Given the description of an element on the screen output the (x, y) to click on. 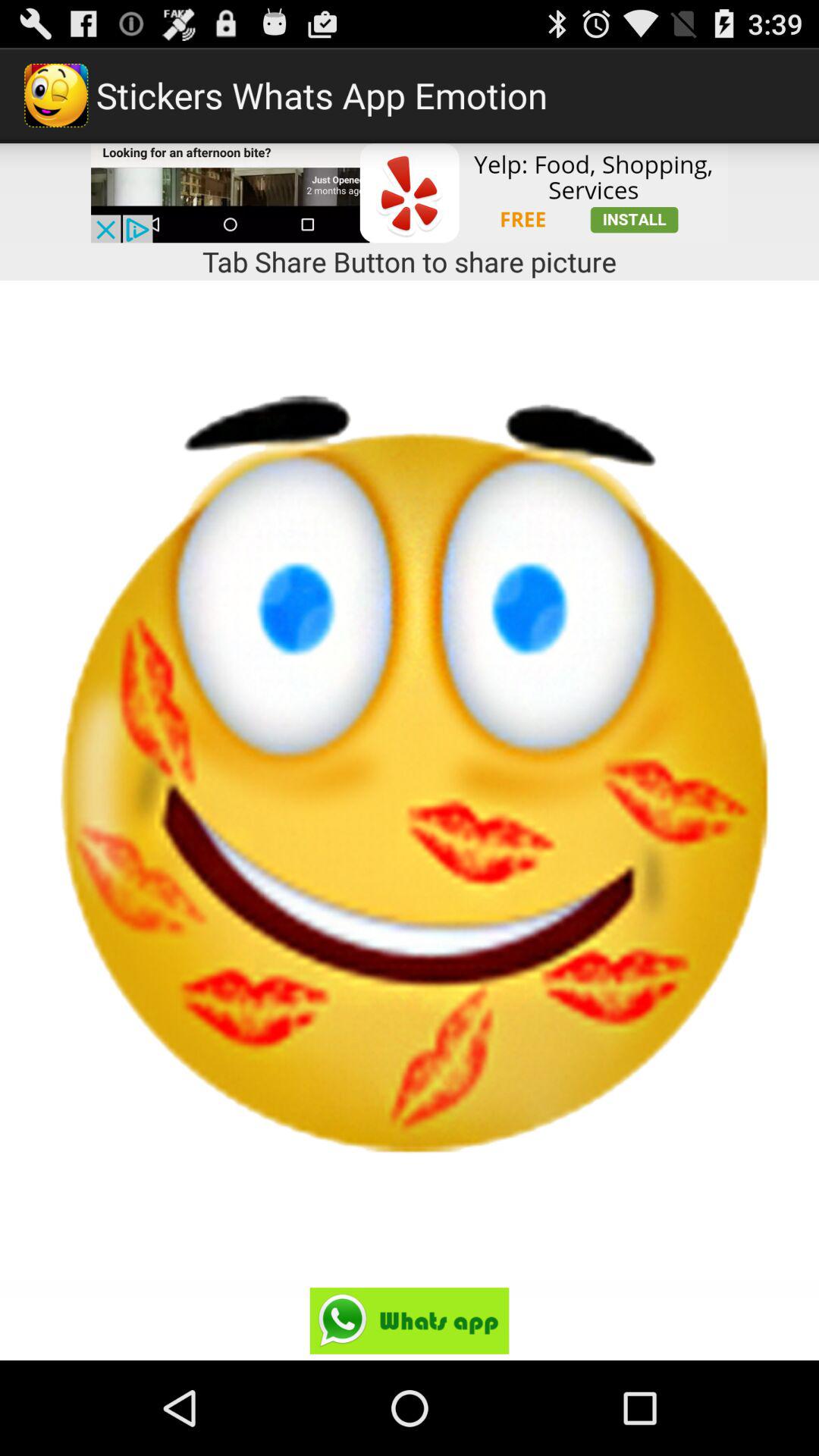
advertisement link (409, 192)
